Given the description of an element on the screen output the (x, y) to click on. 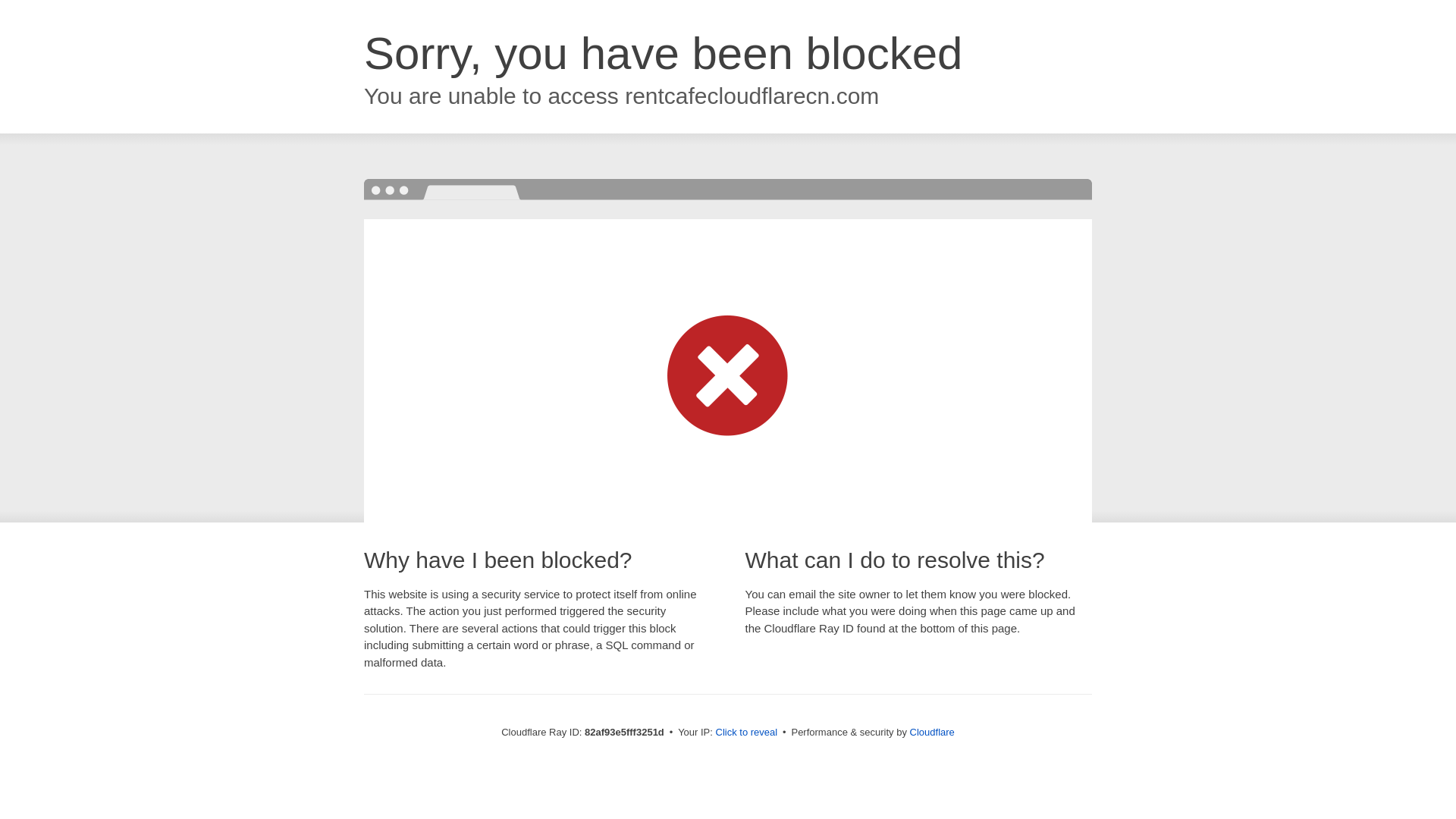
Cloudflare Element type: text (932, 731)
Click to reveal Element type: text (746, 732)
